Given the description of an element on the screen output the (x, y) to click on. 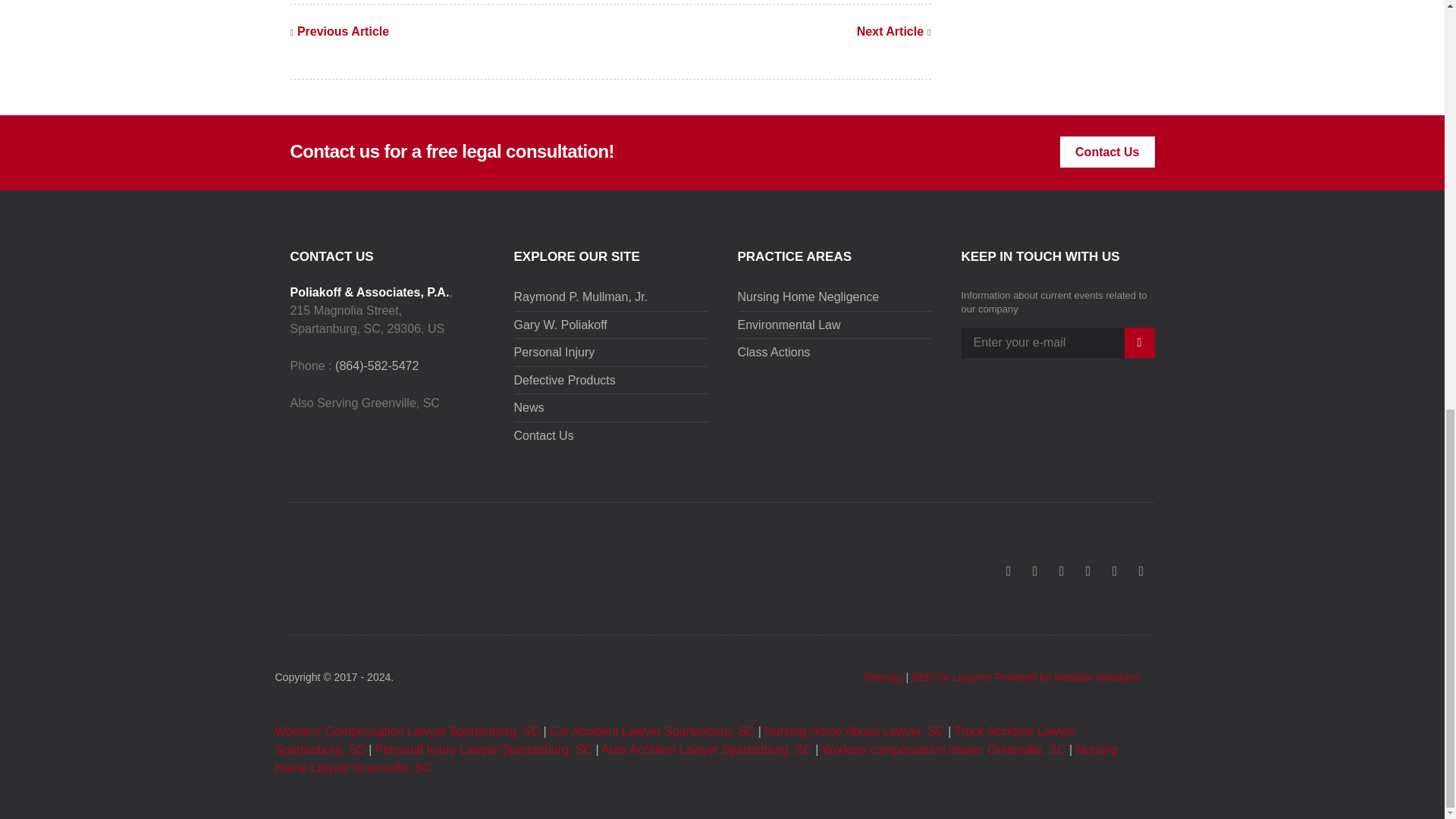
Gary W. Poliakoff (560, 324)
Previous Article (338, 32)
Personal Injury (554, 351)
Raymond P. Mullman, Jr. (580, 296)
Next Article (894, 32)
Contact Us (1106, 151)
